Given the description of an element on the screen output the (x, y) to click on. 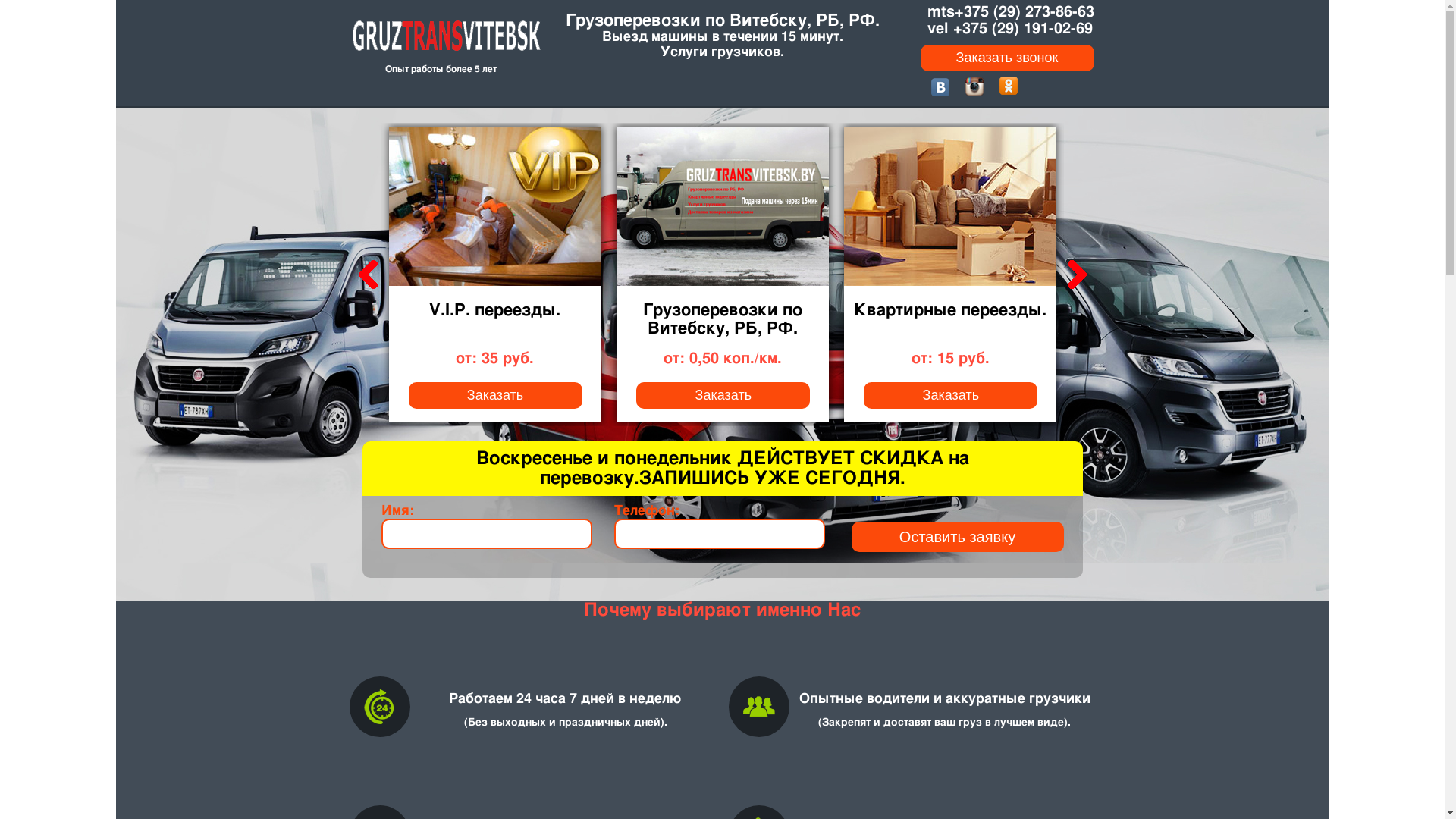
Previous Element type: text (366, 274)
Next Element type: text (1074, 274)
